Given the description of an element on the screen output the (x, y) to click on. 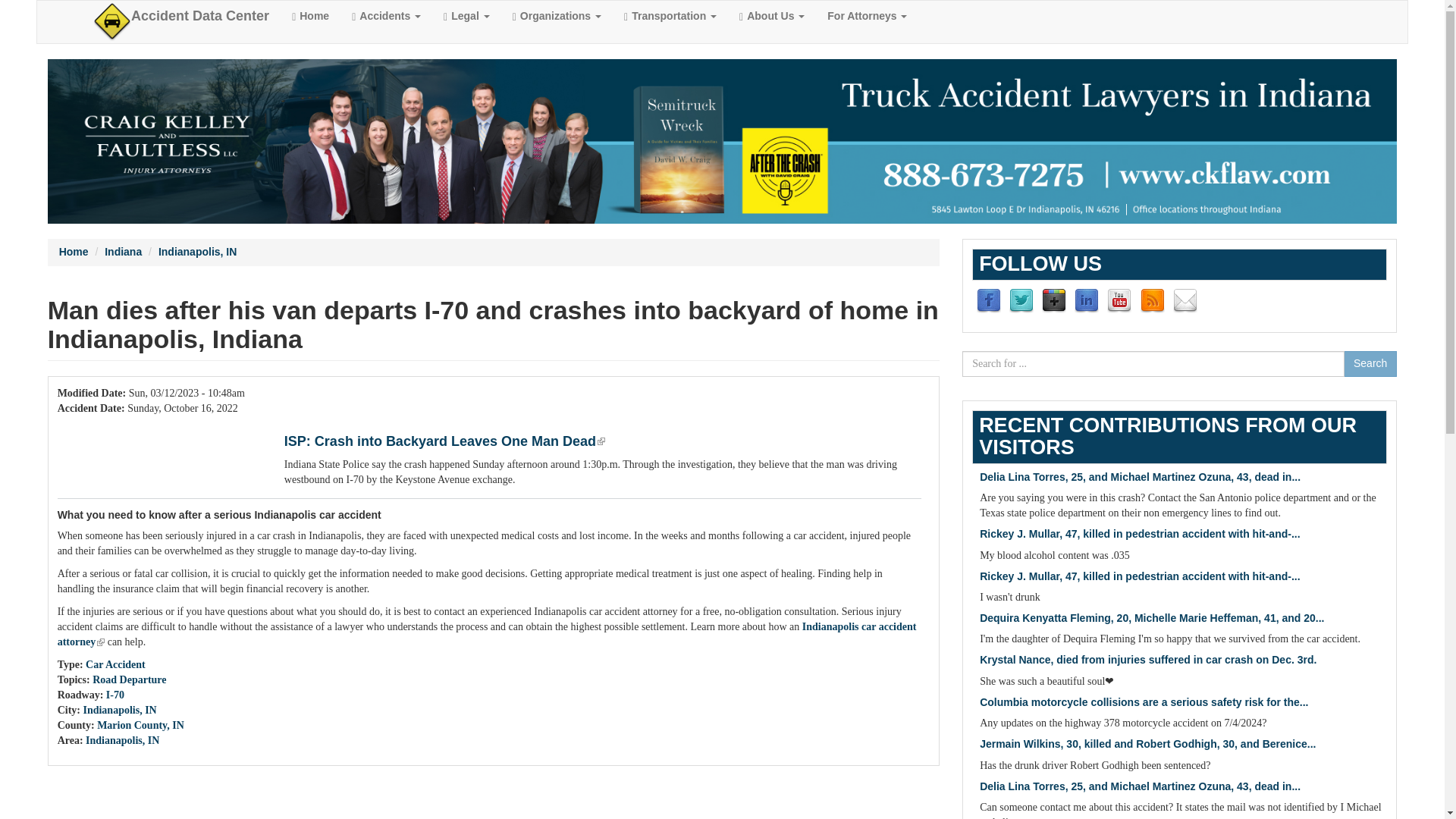
Indianapolis, IN (196, 251)
Accidents (386, 15)
Organizations (556, 15)
Home (200, 15)
Transportation (670, 15)
Organizations (556, 15)
Home (310, 15)
Indiana (122, 251)
Transportation (670, 15)
For Attorneys (866, 15)
